Given the description of an element on the screen output the (x, y) to click on. 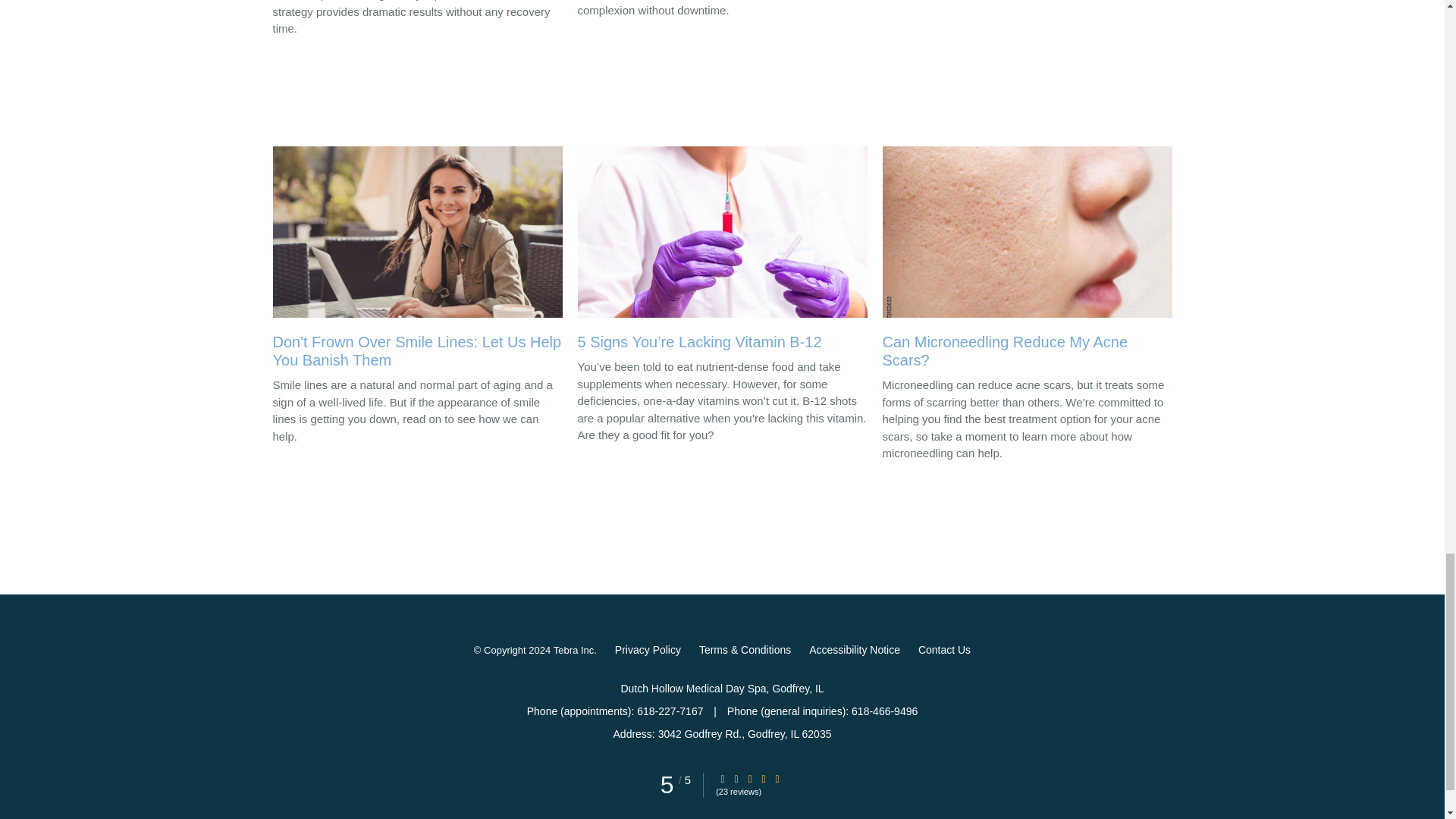
Star Rating (722, 778)
Star Rating (763, 778)
Star Rating (777, 778)
Star Rating (749, 778)
Star Rating (735, 778)
